Given the description of an element on the screen output the (x, y) to click on. 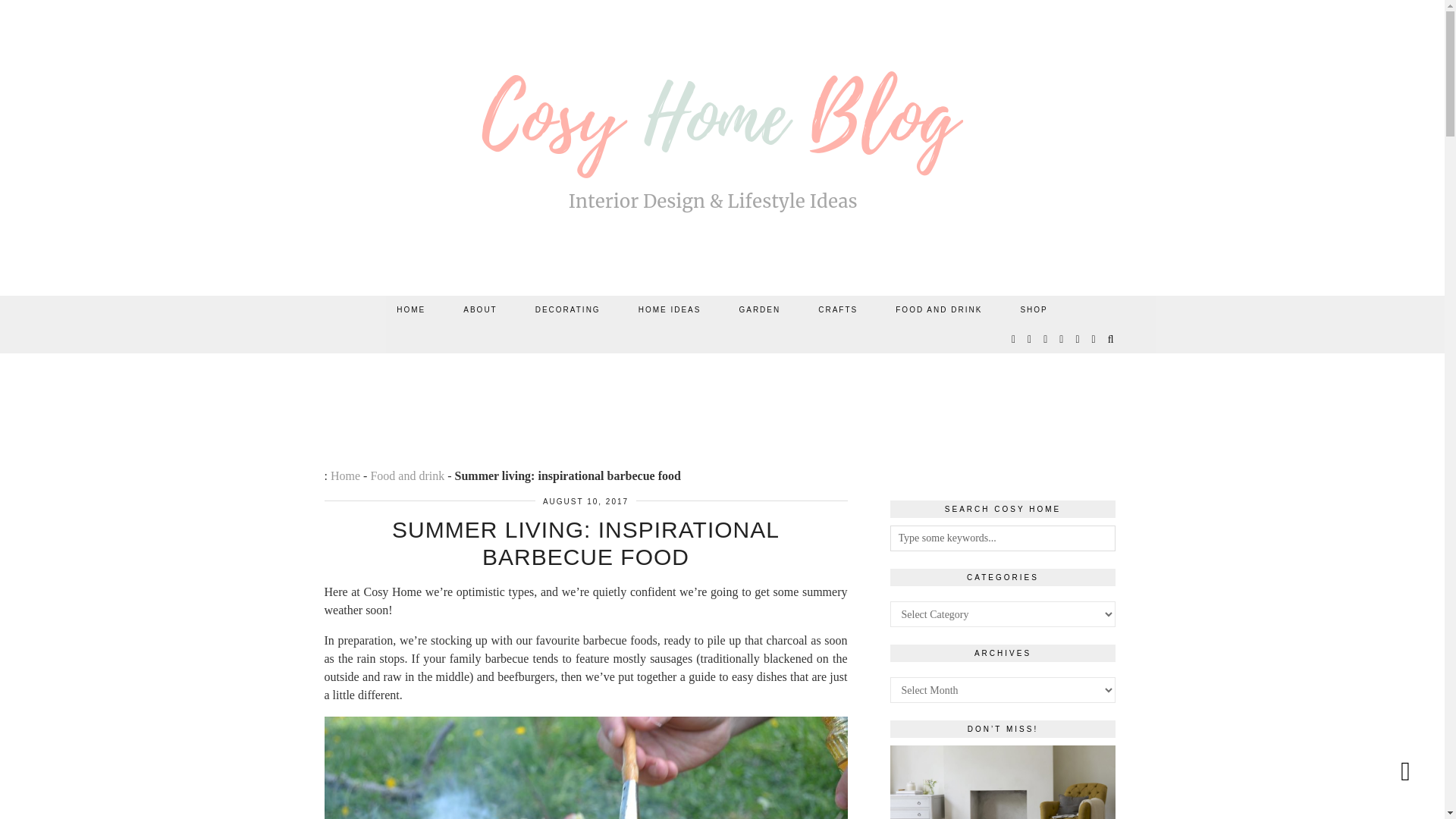
GARDEN (759, 309)
Food and drink (406, 475)
HOME (410, 309)
HOME IDEAS (670, 309)
Advertisement (721, 395)
DECORATING (568, 309)
FOOD AND DRINK (938, 309)
ABOUT (479, 309)
SHOP (1033, 309)
